Given the description of an element on the screen output the (x, y) to click on. 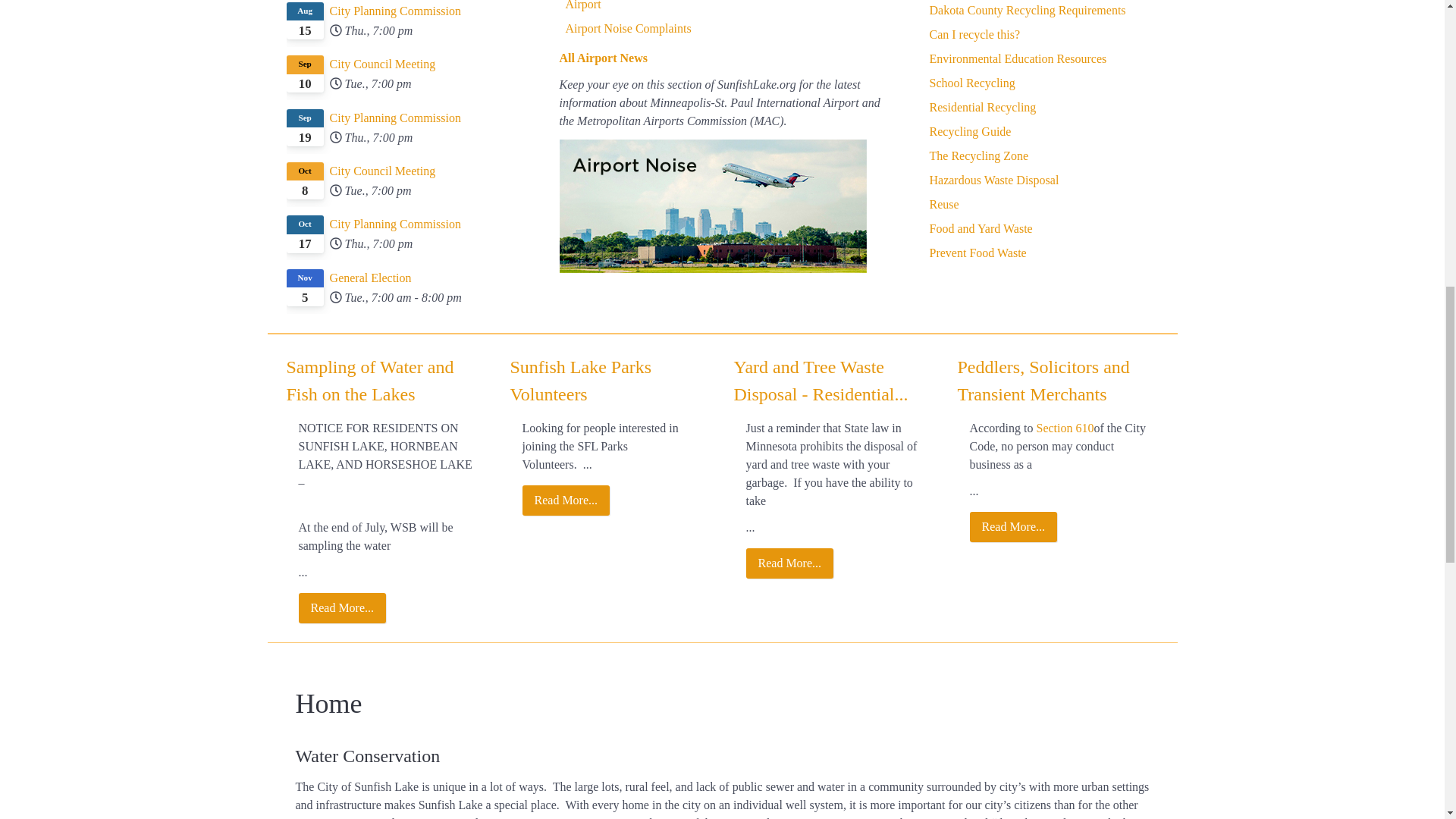
Dakota County Recycling Requirements (1027, 10)
City Council Meeting (403, 171)
Residential Recycling (983, 106)
Can I recycle this? (975, 33)
City Council Meeting (403, 64)
City Planning Commission (403, 224)
Environmental Education Resources (1018, 58)
All Airport News (603, 57)
School Recycling (972, 82)
Recycling Guide (970, 131)
City Planning Commission (403, 117)
Airport Noise Complaints (628, 28)
The Recycling Zone (979, 155)
General Election (403, 278)
City Planning Commission (403, 11)
